Given the description of an element on the screen output the (x, y) to click on. 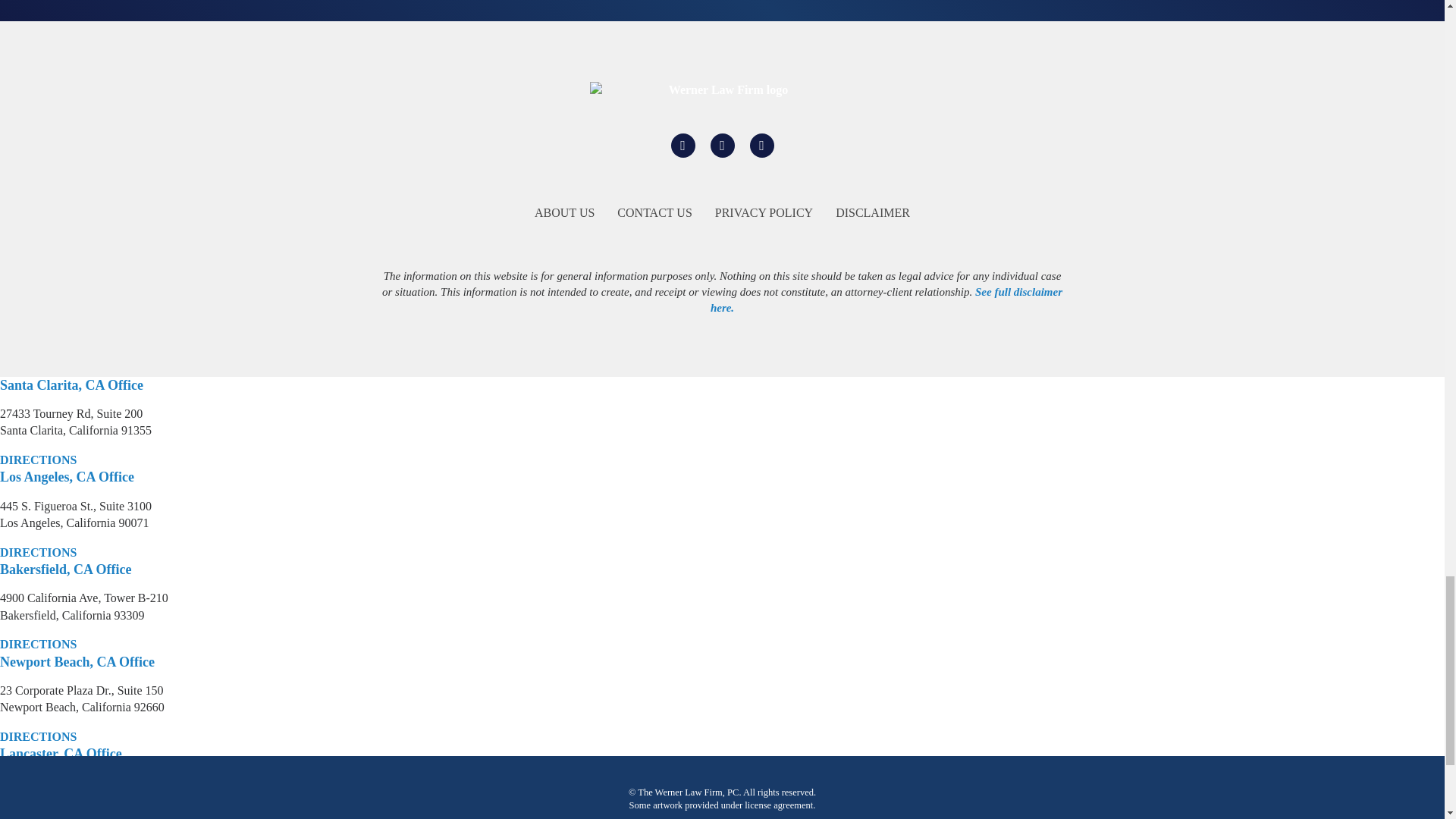
Go To  (761, 145)
Get Directions to Our Santa Clarita, CA Office (38, 460)
Get Directions to Our Newport Beach, CA Office (38, 736)
Get Directions to Our Bakersfield, CA Office (38, 644)
Get Directions to Our Los Angeles, CA Office (38, 552)
The Werner Law Firm, PC (722, 89)
Go To  (721, 145)
Go To  (681, 145)
